Given the description of an element on the screen output the (x, y) to click on. 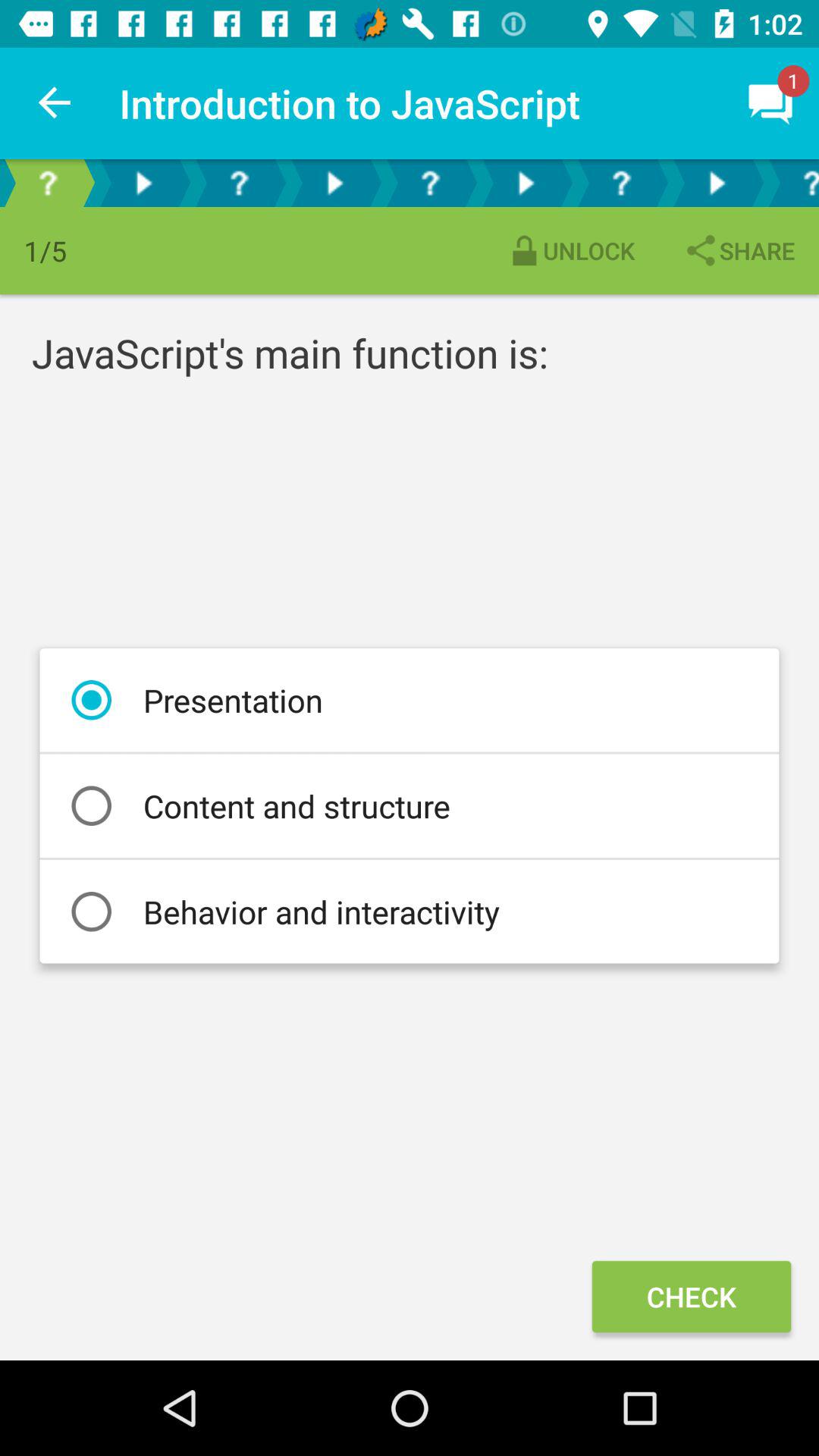
commonly asked questions (47, 183)
